Given the description of an element on the screen output the (x, y) to click on. 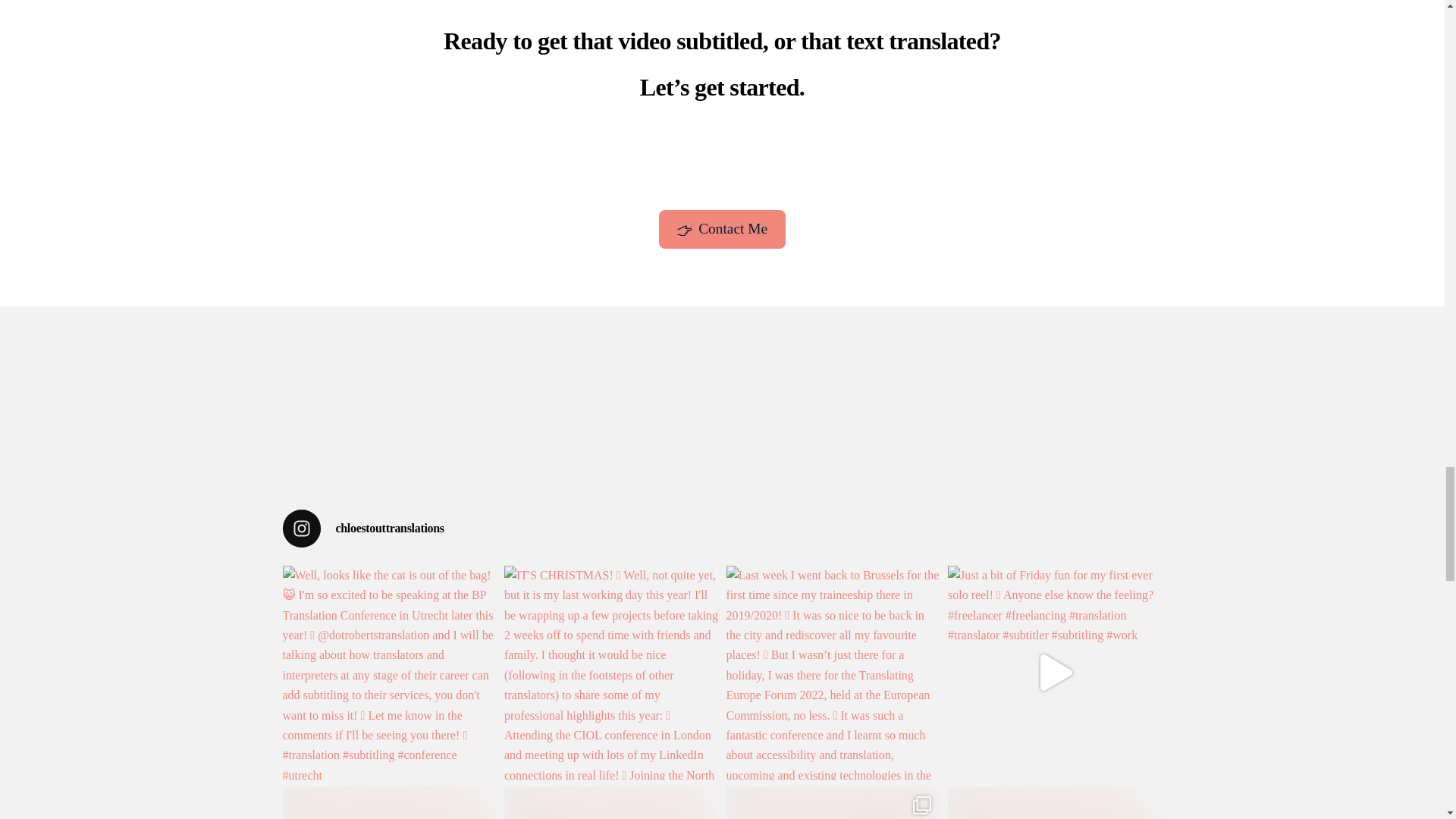
Contact Me (722, 229)
chloestouttranslations (721, 528)
